Given the description of an element on the screen output the (x, y) to click on. 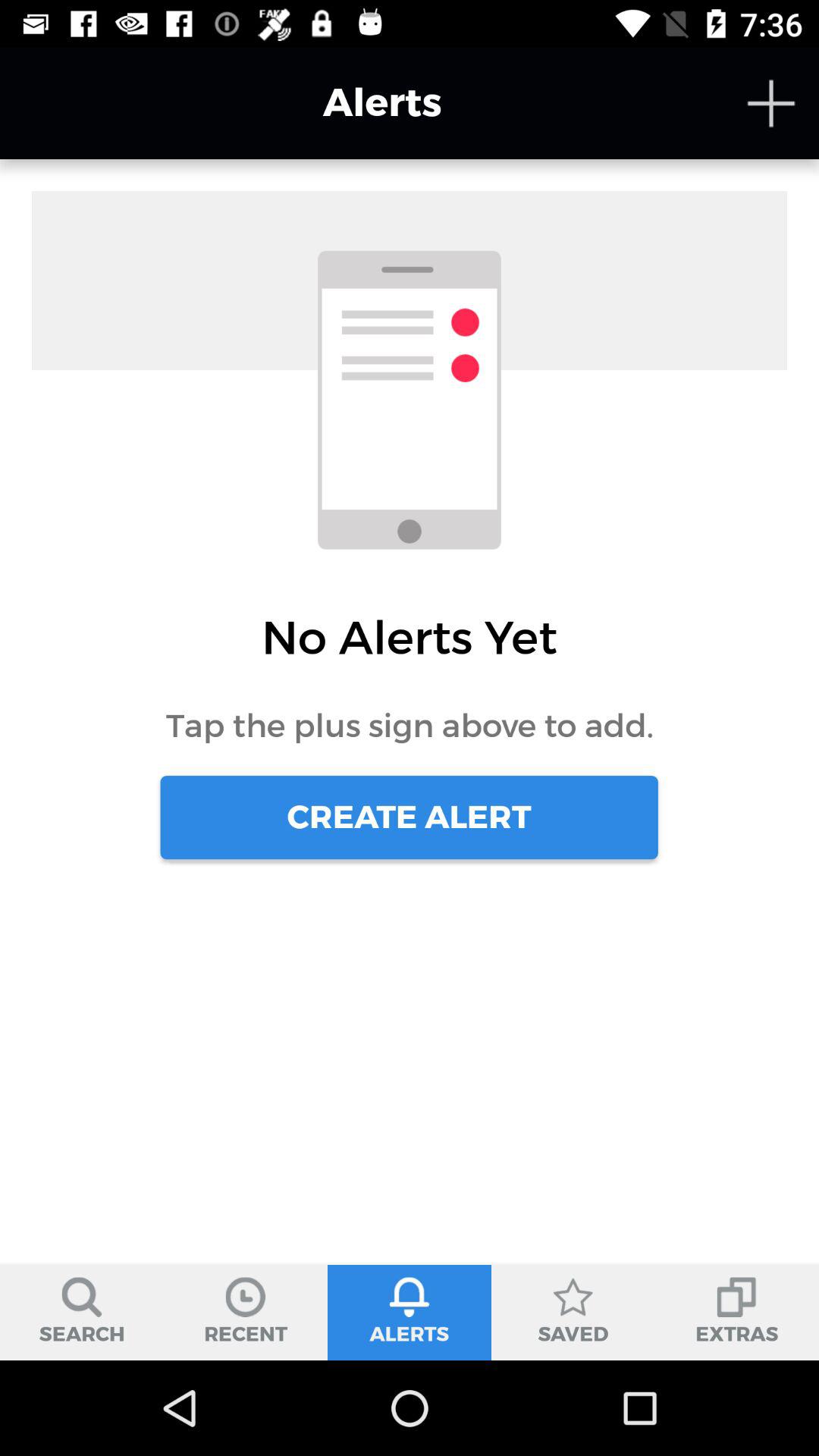
press the icon below tap the plus icon (409, 817)
